Given the description of an element on the screen output the (x, y) to click on. 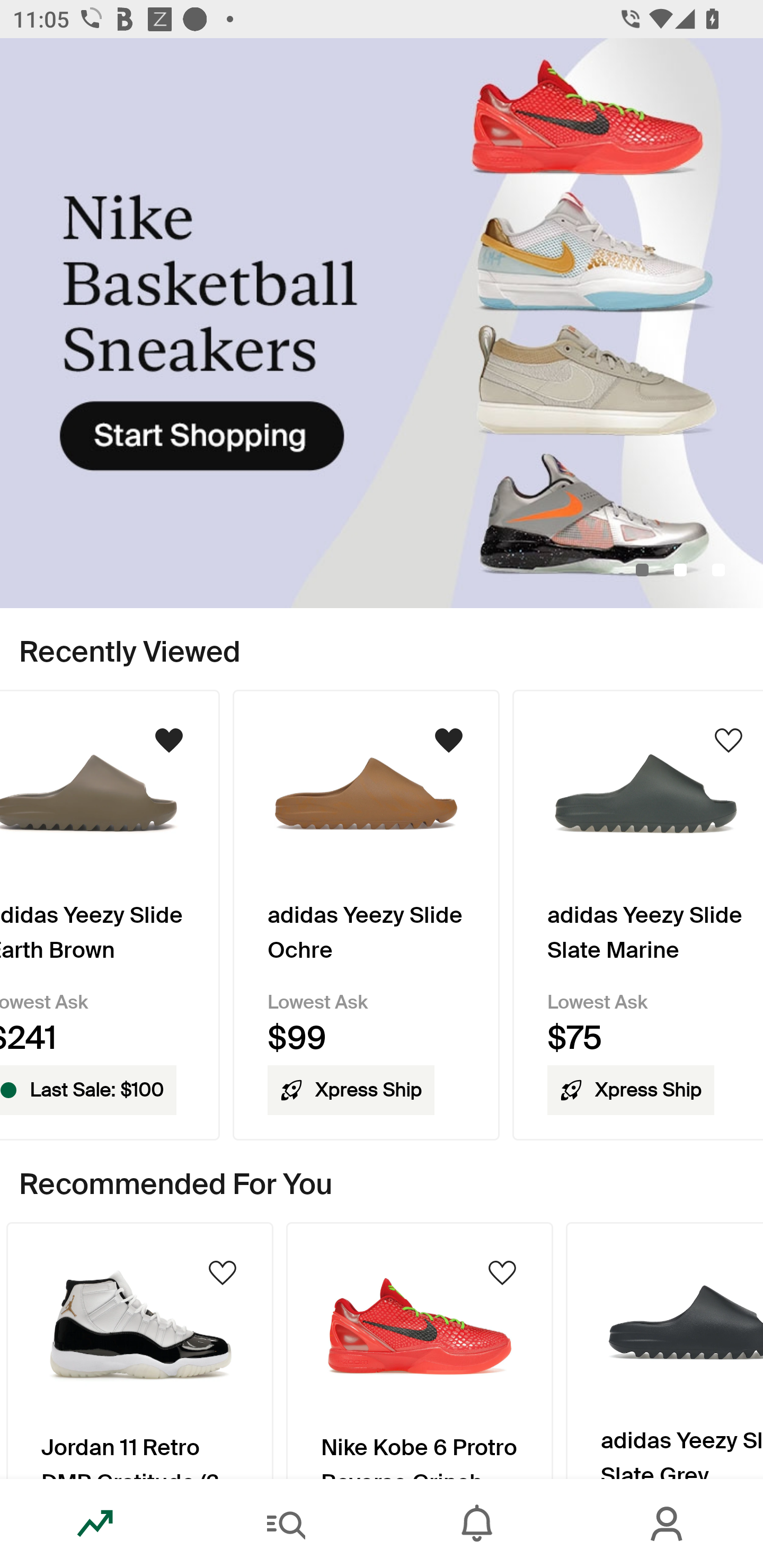
NikeBasketballSprint_Followup_Primary_Mobile.jpg (381, 322)
Product Image Jordan 11 Retro DMP Gratitude (2023) (139, 1349)
Product Image Nike Kobe 6 Protro Reverse Grinch (419, 1349)
Product Image adidas Yeezy Slide Slate Grey (664, 1349)
Search (285, 1523)
Inbox (476, 1523)
Account (667, 1523)
